Given the description of an element on the screen output the (x, y) to click on. 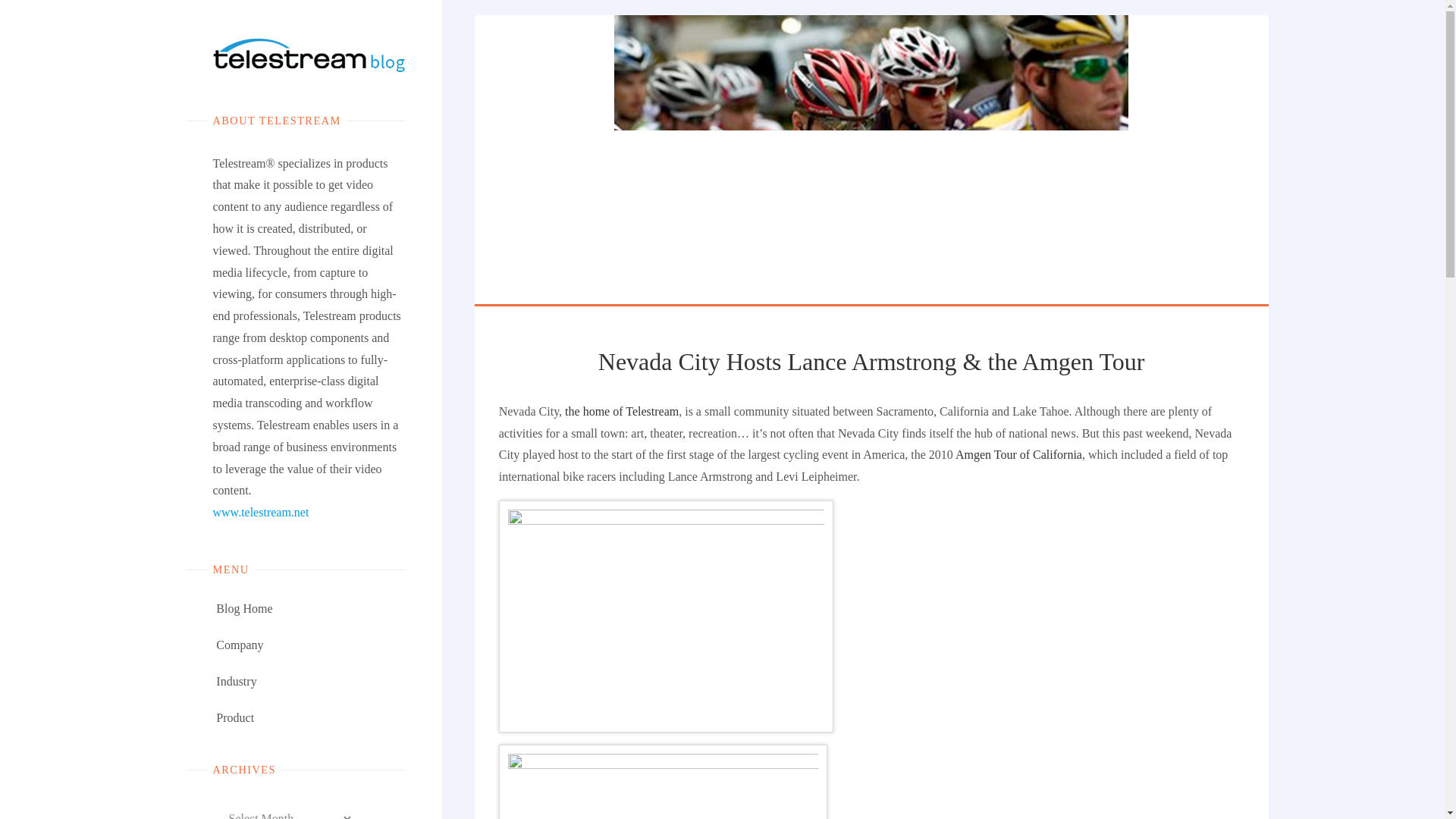
www.telestream.net (260, 512)
amgenstart2 (665, 616)
Company (239, 645)
lance2 (663, 781)
Industry (235, 681)
Blog Home (243, 608)
